Given the description of an element on the screen output the (x, y) to click on. 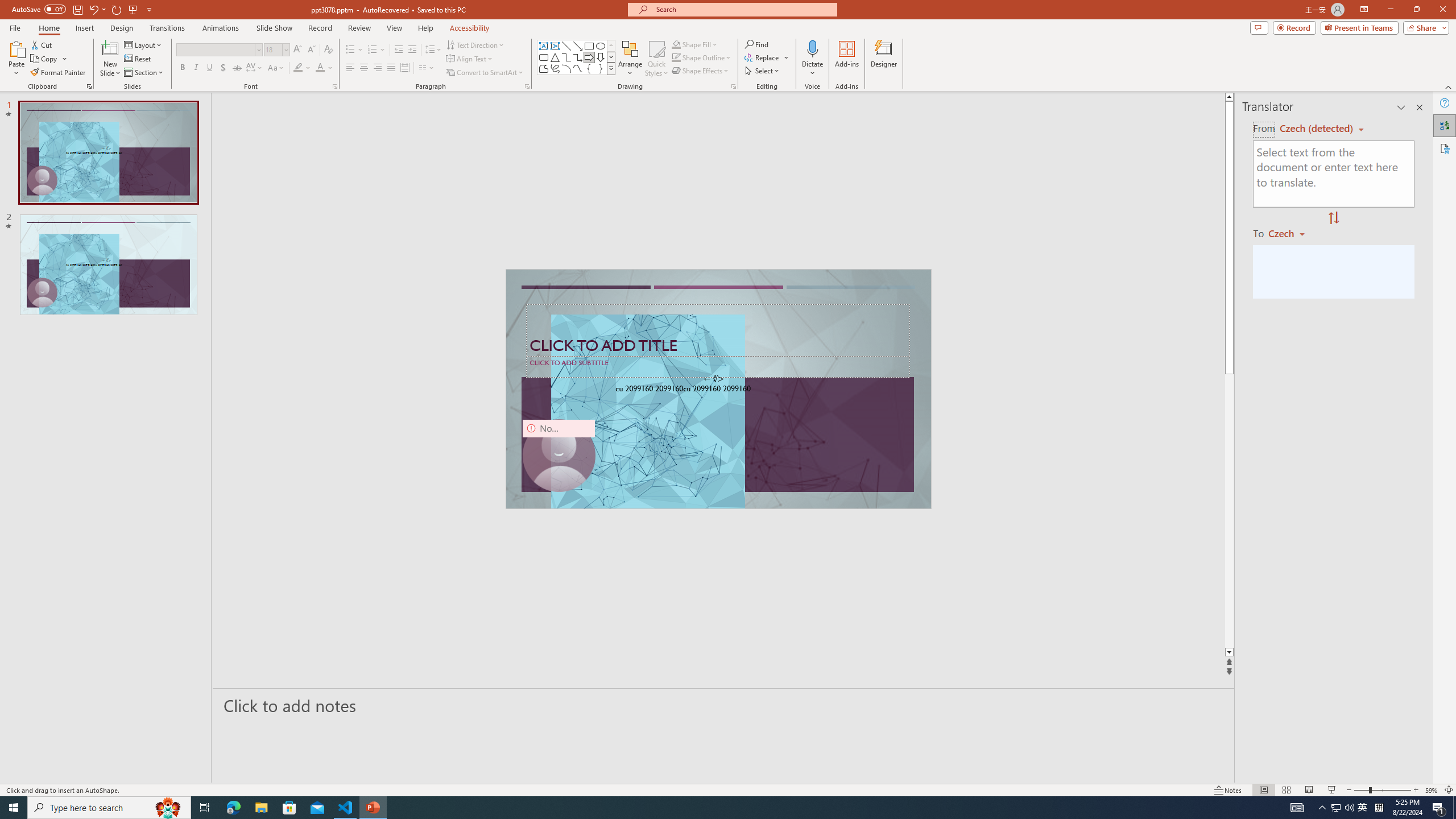
remote (69, 766)
icon (976, 114)
Accounts - Sign in requested (76, 690)
Copilot (Ctrl+Shift+.) (1434, 46)
Restore Panel Size (1005, 182)
Notifications (1034, 766)
wangyian_webcrawler - DSW (23, 249)
Timeline Section (188, 746)
